Given the description of an element on the screen output the (x, y) to click on. 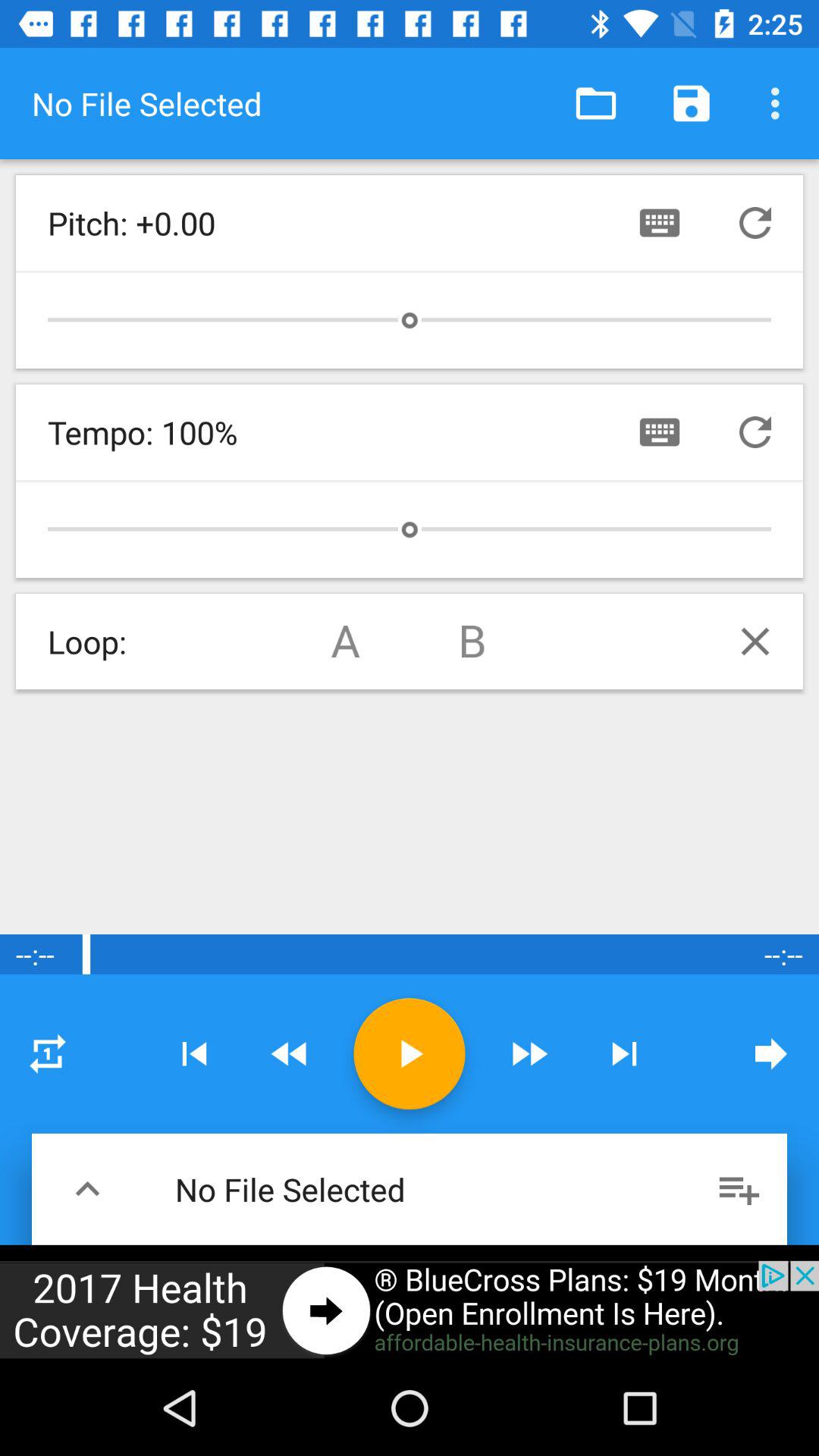
close loop (755, 641)
